Given the description of an element on the screen output the (x, y) to click on. 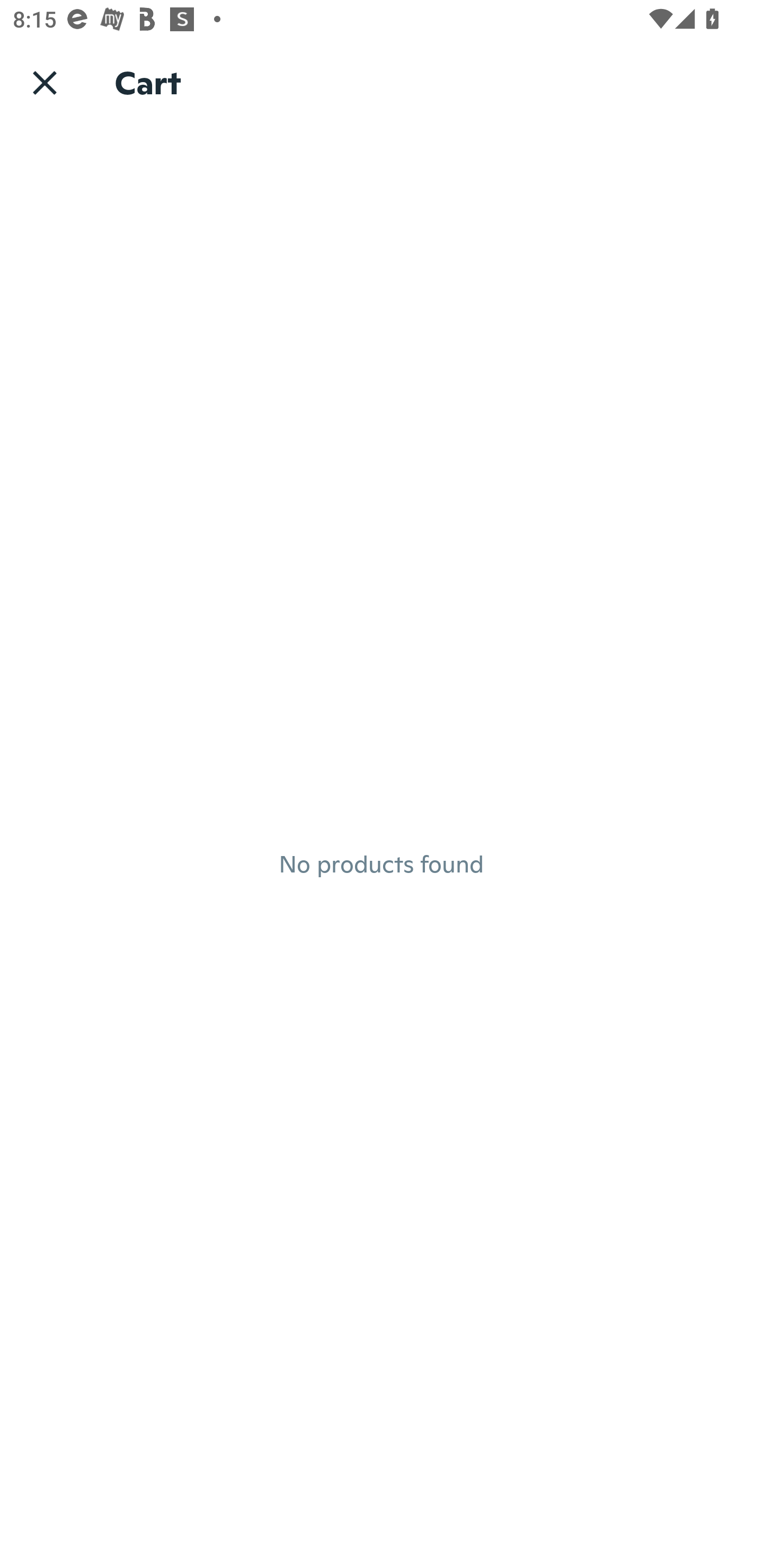
Navigate up (44, 82)
